Given the description of an element on the screen output the (x, y) to click on. 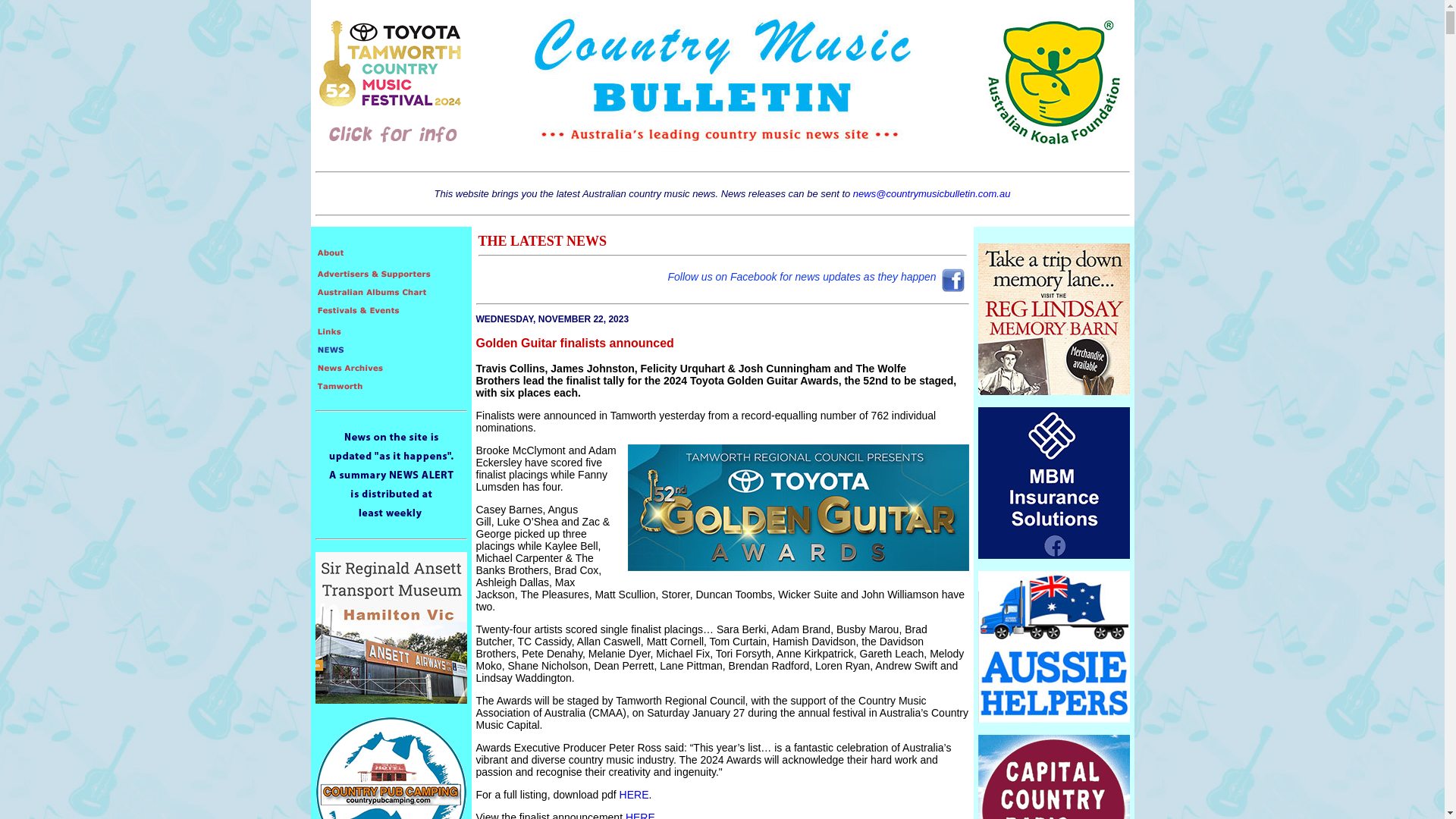
news@countrymusicbulletin.com.au Element type: text (931, 193)
HERE Element type: text (634, 794)
